Given the description of an element on the screen output the (x, y) to click on. 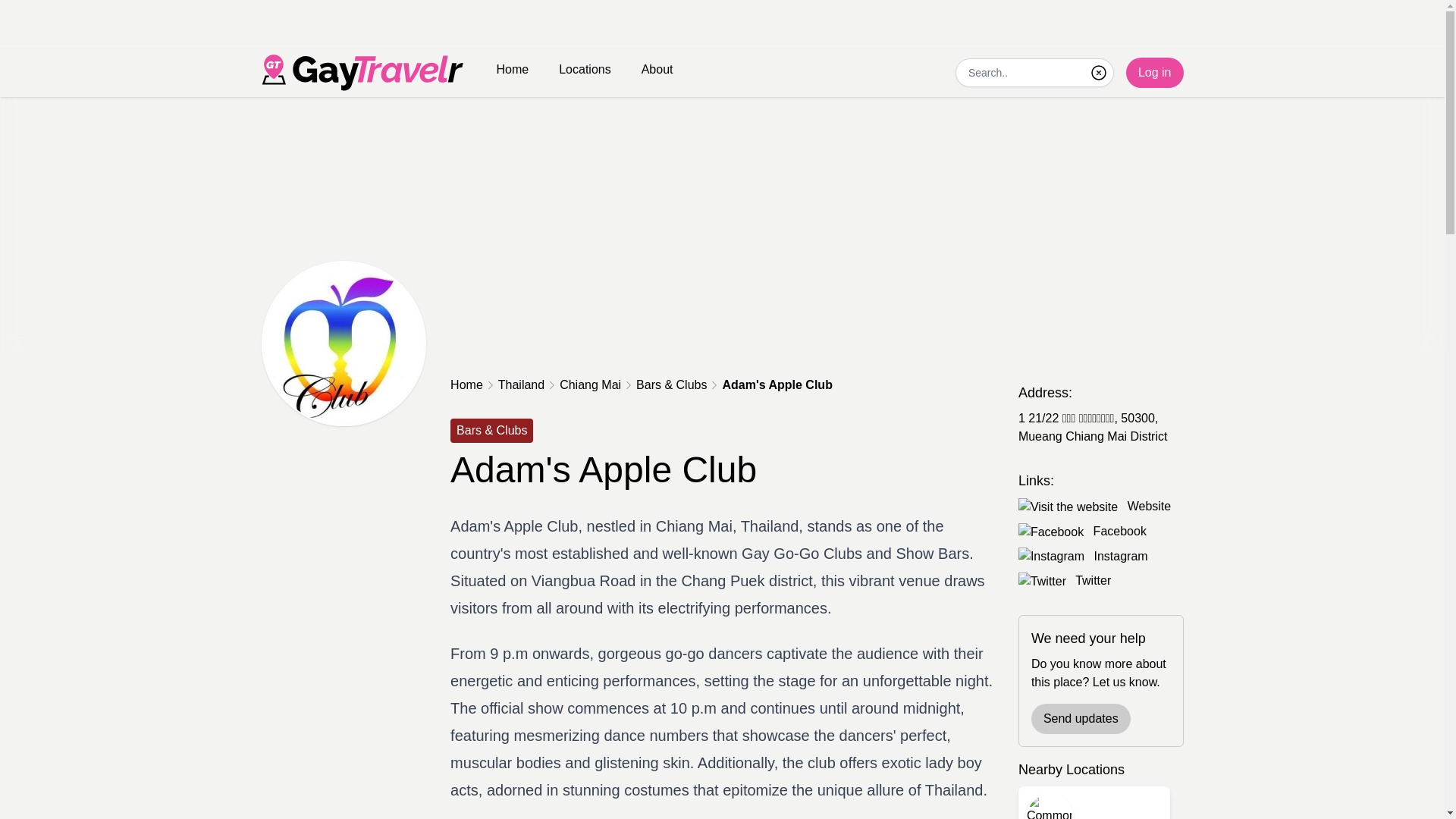
Website (1149, 505)
Facebook (1120, 530)
About (658, 69)
Home (466, 384)
Log in (1154, 72)
Twitter (1092, 580)
Locations (585, 69)
Thailand (520, 384)
Adam's Apple Club (776, 384)
Instagram (1120, 555)
